Given the description of an element on the screen output the (x, y) to click on. 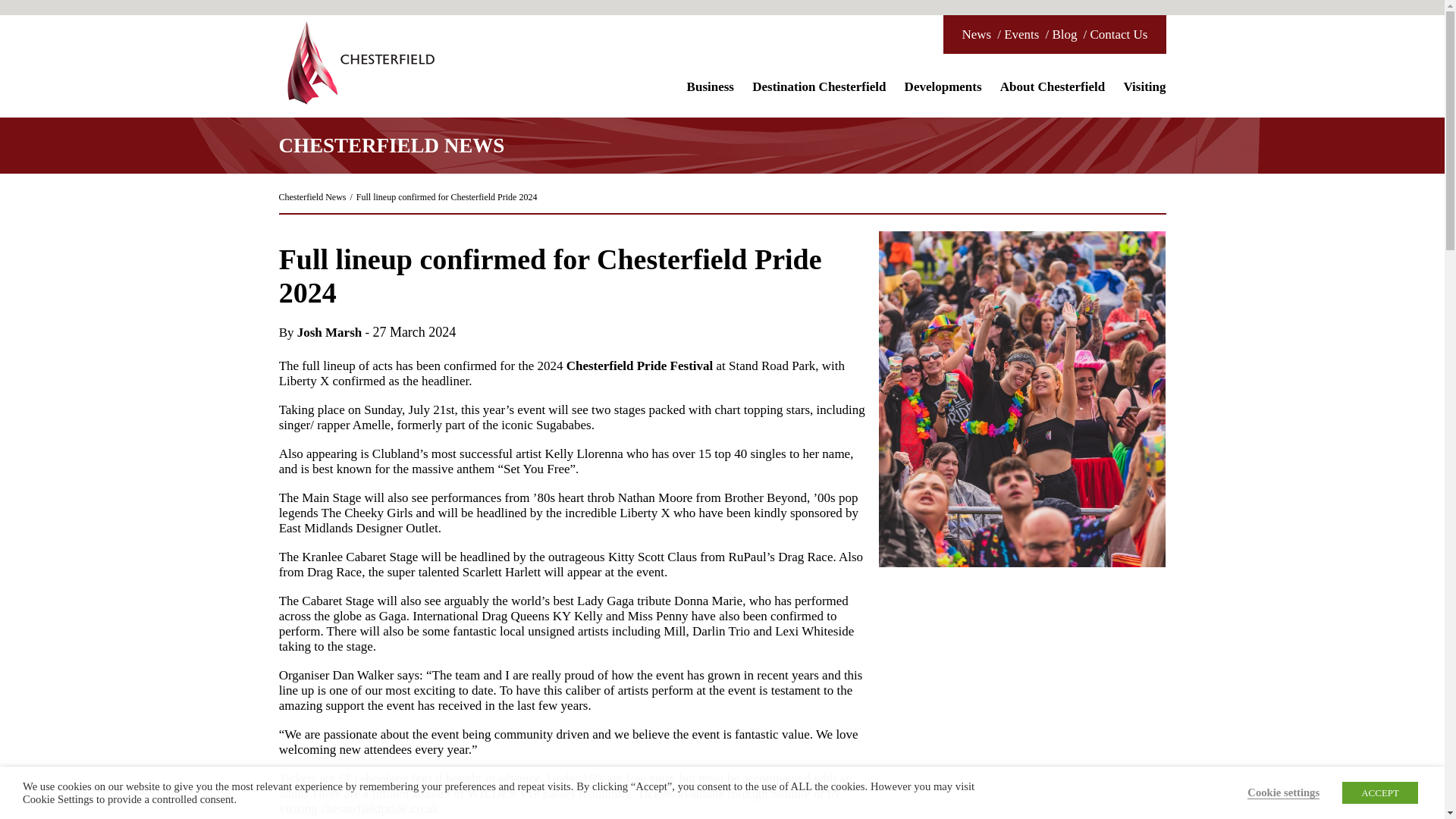
Developments (943, 90)
Destination Chesterfield (818, 90)
About Chesterfield (1052, 90)
News (975, 34)
Destination Chesterfield (360, 63)
Events (1021, 34)
Visiting (1140, 90)
Business (710, 90)
